Given the description of an element on the screen output the (x, y) to click on. 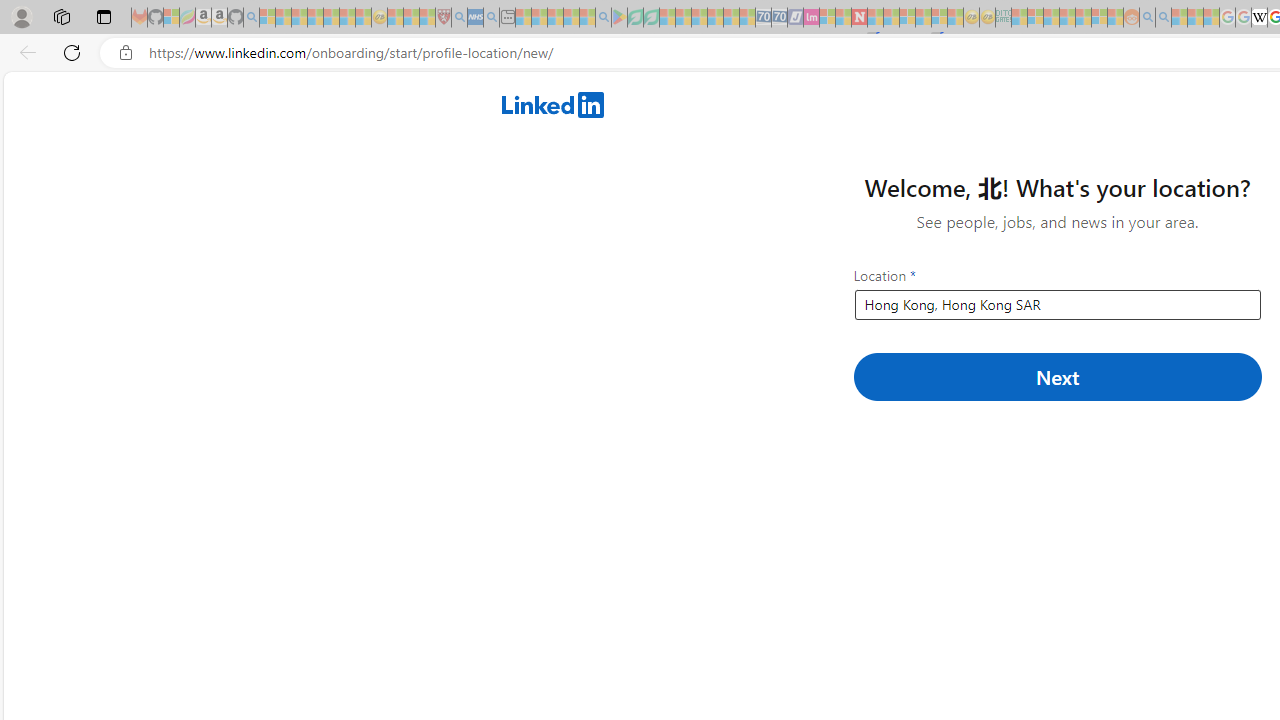
Jobs - lastminute.com Investor Portal - Sleeping (811, 17)
Utah sues federal government - Search - Sleeping (1163, 17)
MSNBC - MSN - Sleeping (1019, 17)
Terms of Use Agreement - Sleeping (635, 17)
Kinda Frugal - MSN - Sleeping (1083, 17)
Pets - MSN - Sleeping (571, 17)
